Given the description of an element on the screen output the (x, y) to click on. 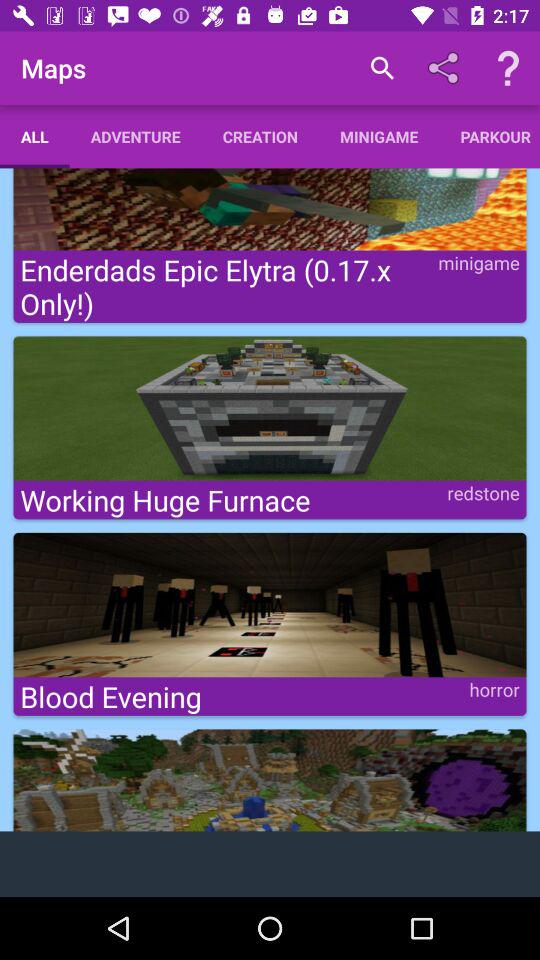
flip until all icon (34, 136)
